Given the description of an element on the screen output the (x, y) to click on. 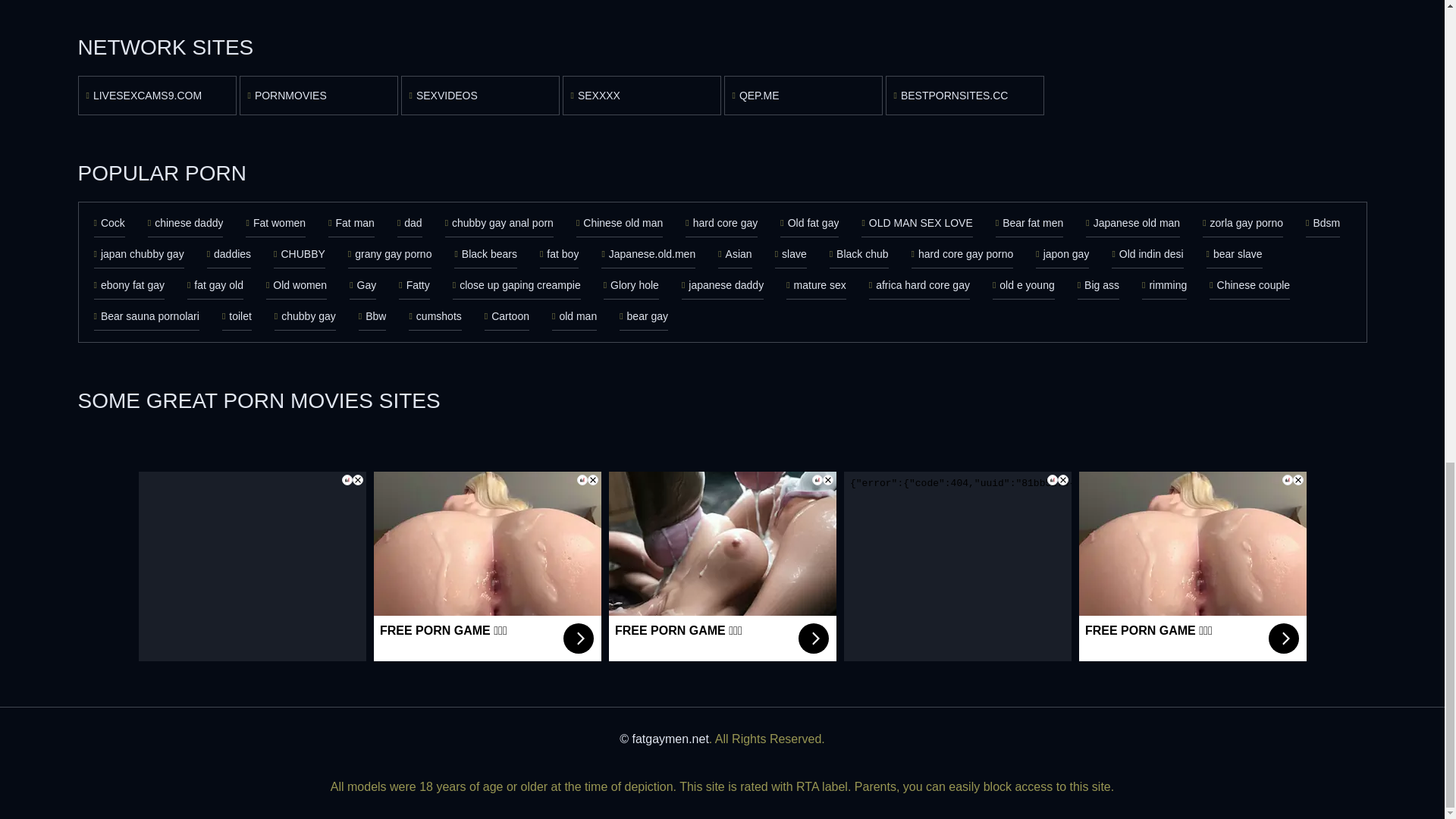
zorla gay porno (1242, 223)
chinese daddy (186, 223)
Black bears (485, 254)
grany gay porno (389, 254)
Old fat gay (809, 223)
Fat man (351, 223)
Bdsm (1322, 223)
Japanese old man (1132, 223)
Cock (109, 223)
japan chubby gay (139, 254)
